Given the description of an element on the screen output the (x, y) to click on. 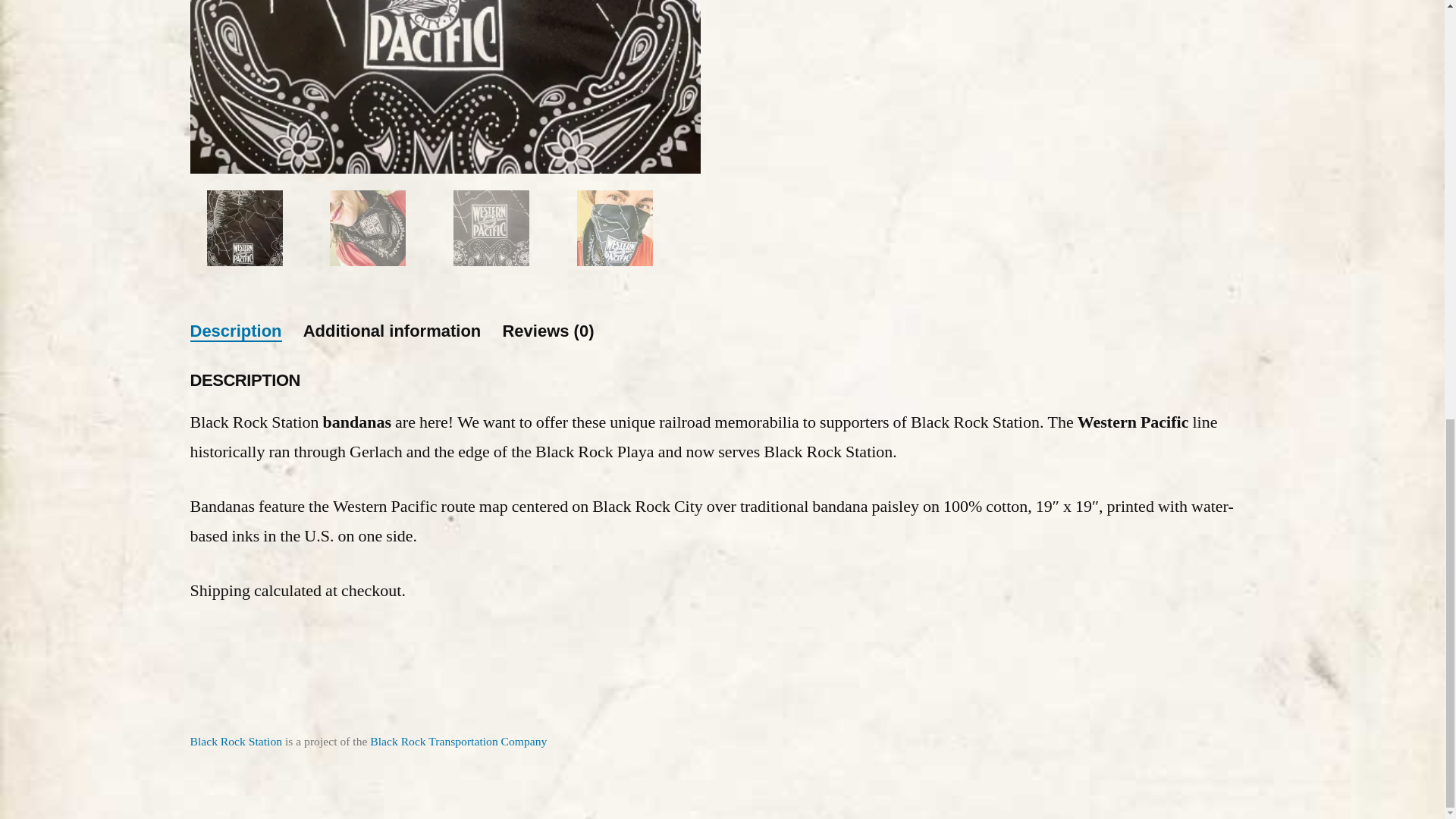
Bandaba-logo-and-map (444, 86)
Additional information (391, 330)
Description (235, 330)
Black Rock Transportation Company (458, 740)
Black Rock Station (235, 740)
Bandana-wth-molly (955, 27)
